Given the description of an element on the screen output the (x, y) to click on. 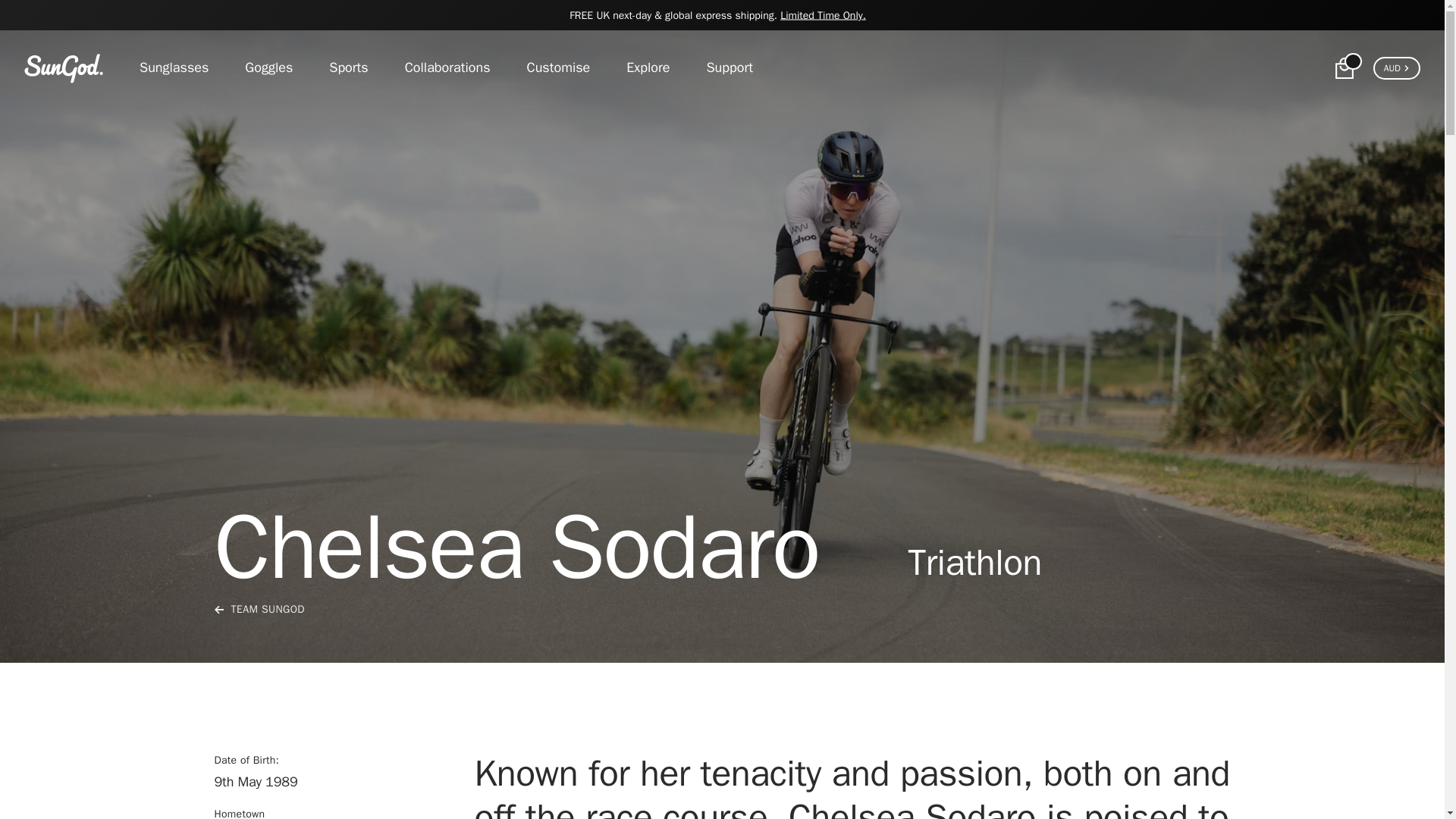
Sunglasses (183, 67)
Chelsea Sodaro (331, 785)
SunGod (63, 67)
SunGod Homepage (63, 67)
Goggles (269, 67)
